Given the description of an element on the screen output the (x, y) to click on. 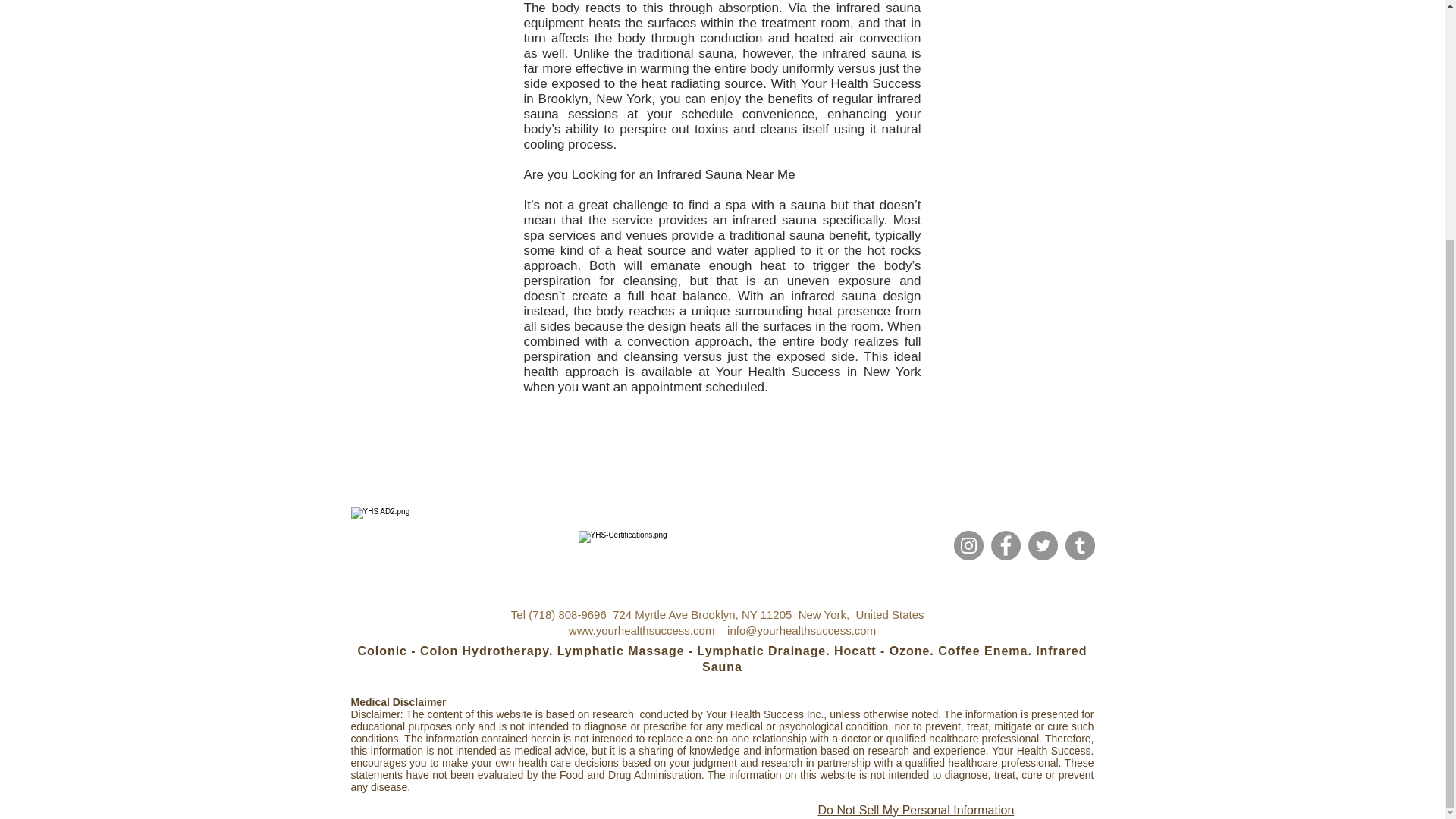
www.yourhealthsuccess.com (641, 630)
